Given the description of an element on the screen output the (x, y) to click on. 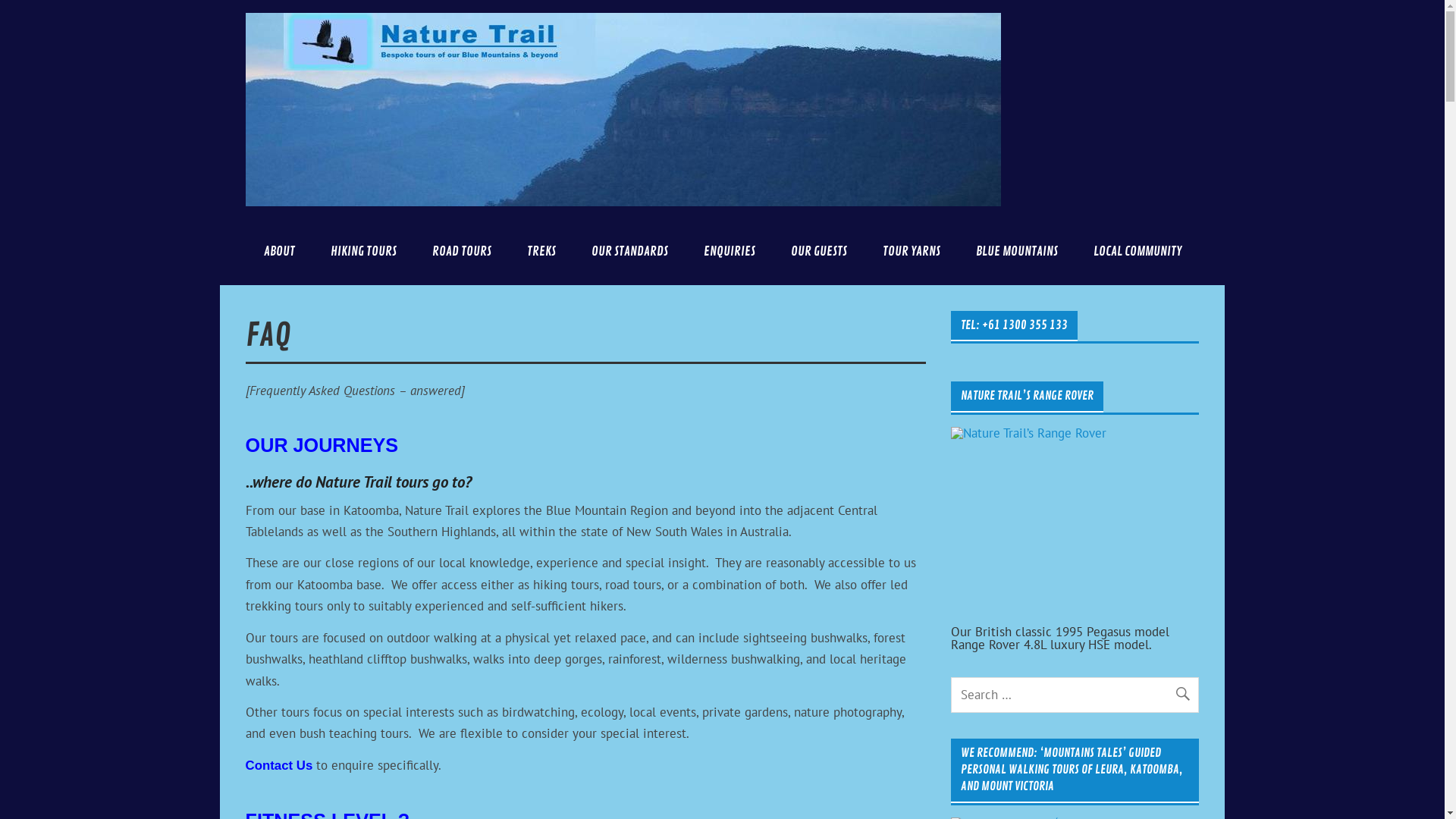
BLUE MOUNTAINS Element type: text (1016, 252)
LOCAL COMMUNITY Element type: text (1136, 252)
HIKING TOURS Element type: text (363, 252)
OUR GUESTS Element type: text (818, 252)
Contact Us Element type: text (279, 764)
TREKS Element type: text (540, 252)
TOUR YARNS Element type: text (910, 252)
OUR STANDARDS Element type: text (629, 252)
ABOUT Element type: text (278, 252)
ENQUIRIES Element type: text (728, 252)
ROAD TOURS Element type: text (461, 252)
Nature Trail Element type: text (1096, 34)
